Given the description of an element on the screen output the (x, y) to click on. 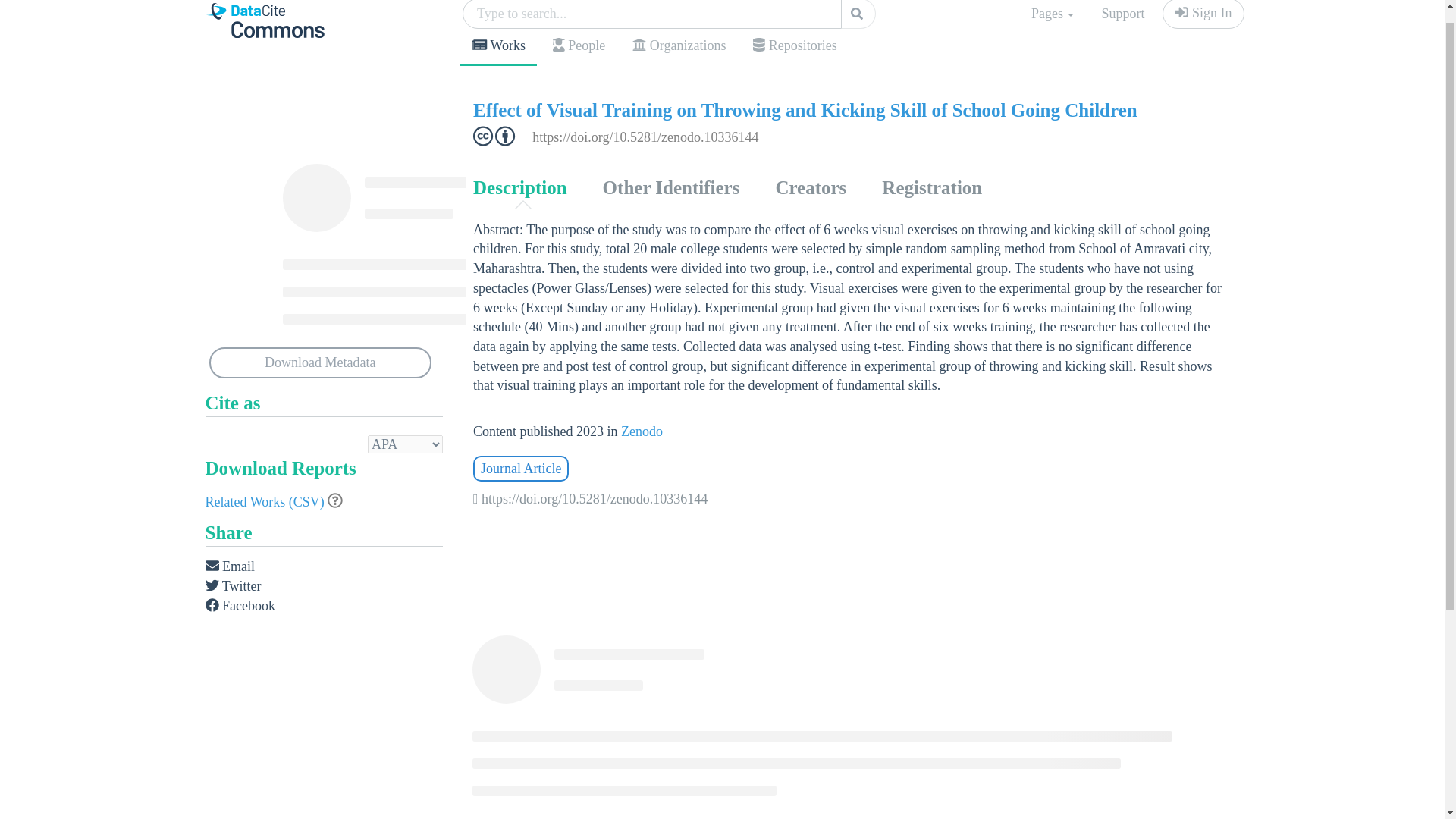
People (578, 45)
Registration (931, 188)
Description (519, 188)
Repositories (794, 45)
Other Identifiers (671, 188)
Zenodo (641, 431)
Twitter (232, 587)
Organizations (678, 45)
Facebook (240, 606)
Download Metadata (320, 363)
Pages (1053, 15)
Sign In (1202, 14)
